Given the description of an element on the screen output the (x, y) to click on. 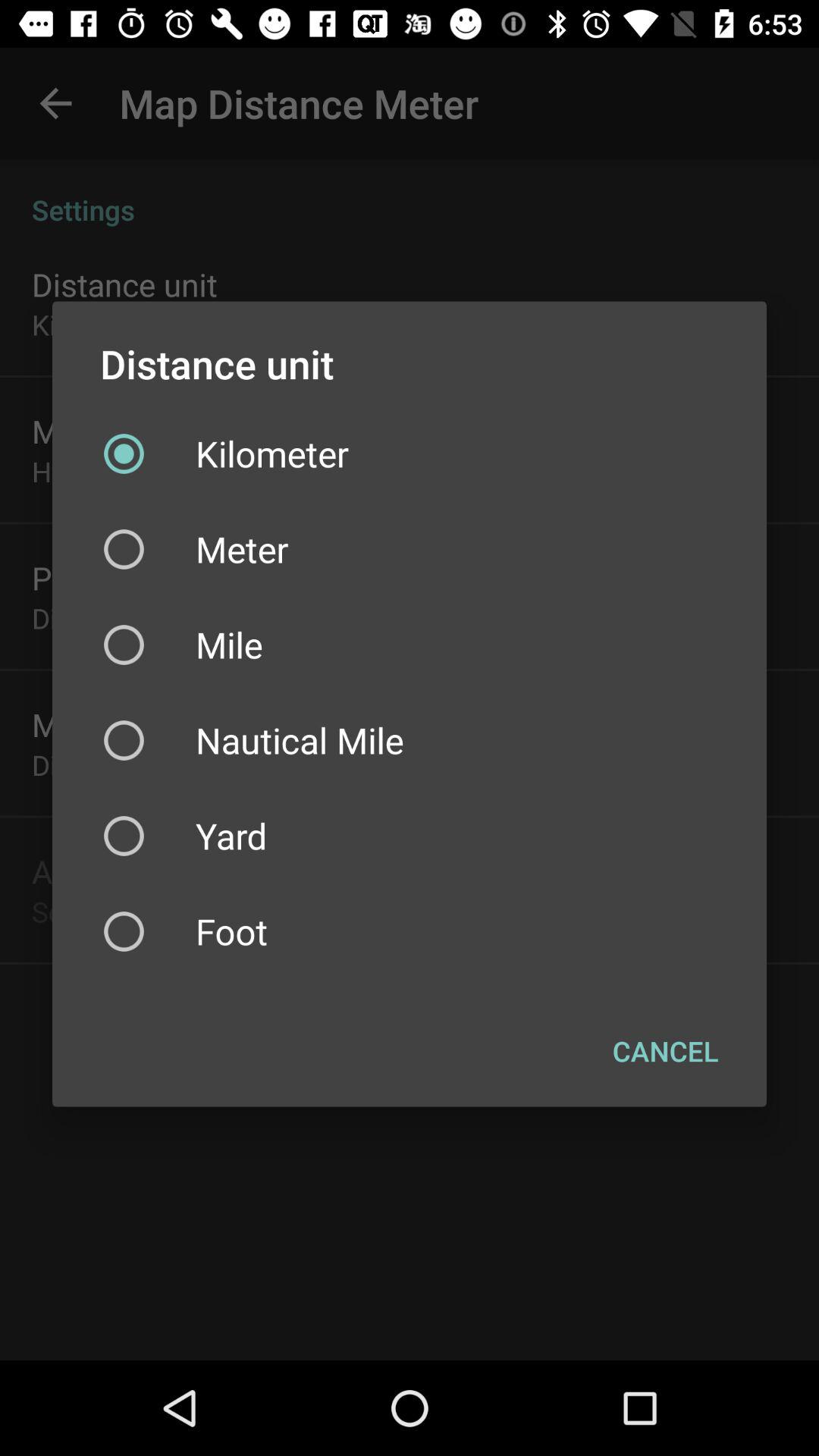
click checkbox below the foot (665, 1050)
